Given the description of an element on the screen output the (x, y) to click on. 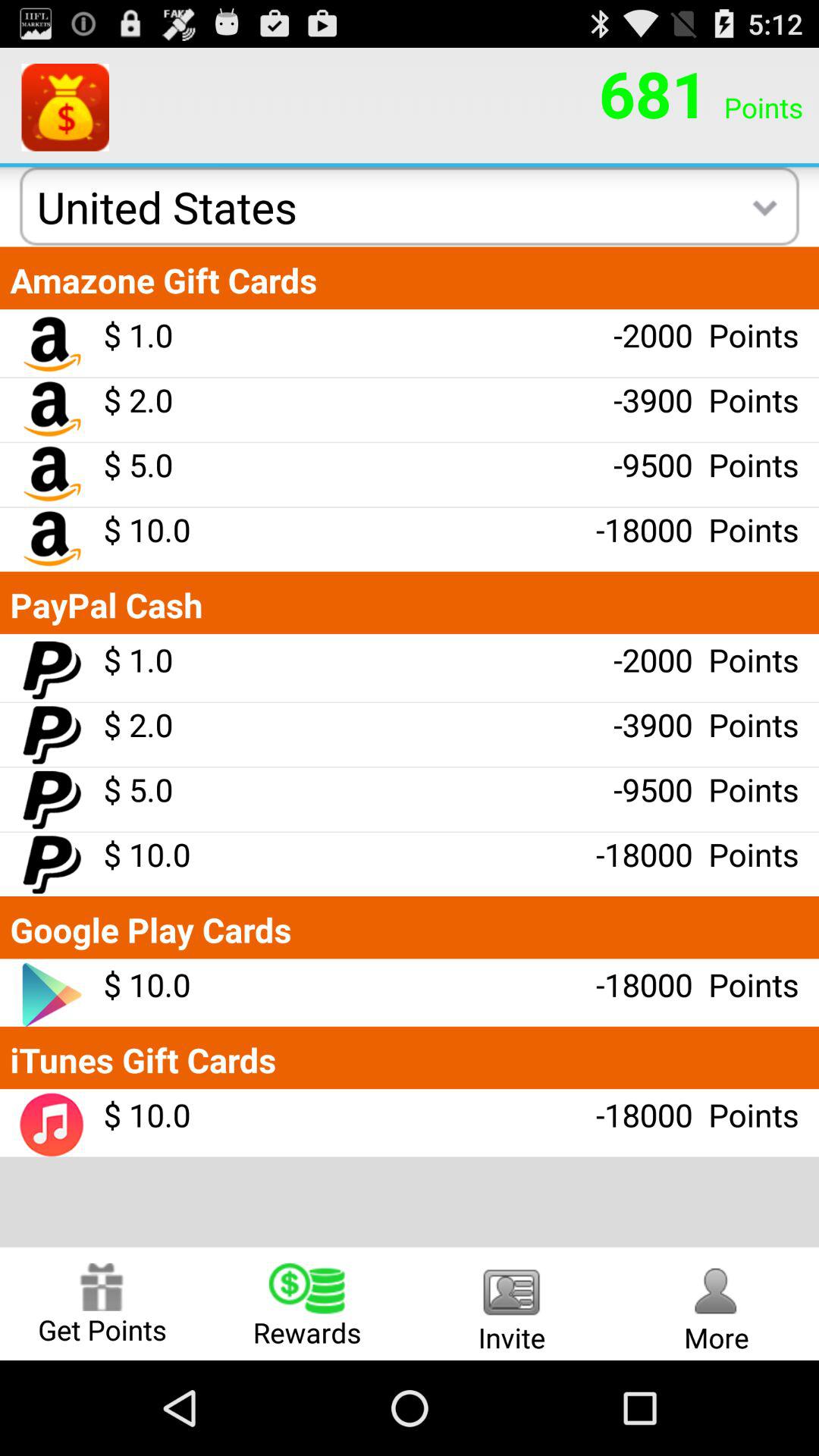
turn on the item to the right of the rewards (511, 1303)
